Given the description of an element on the screen output the (x, y) to click on. 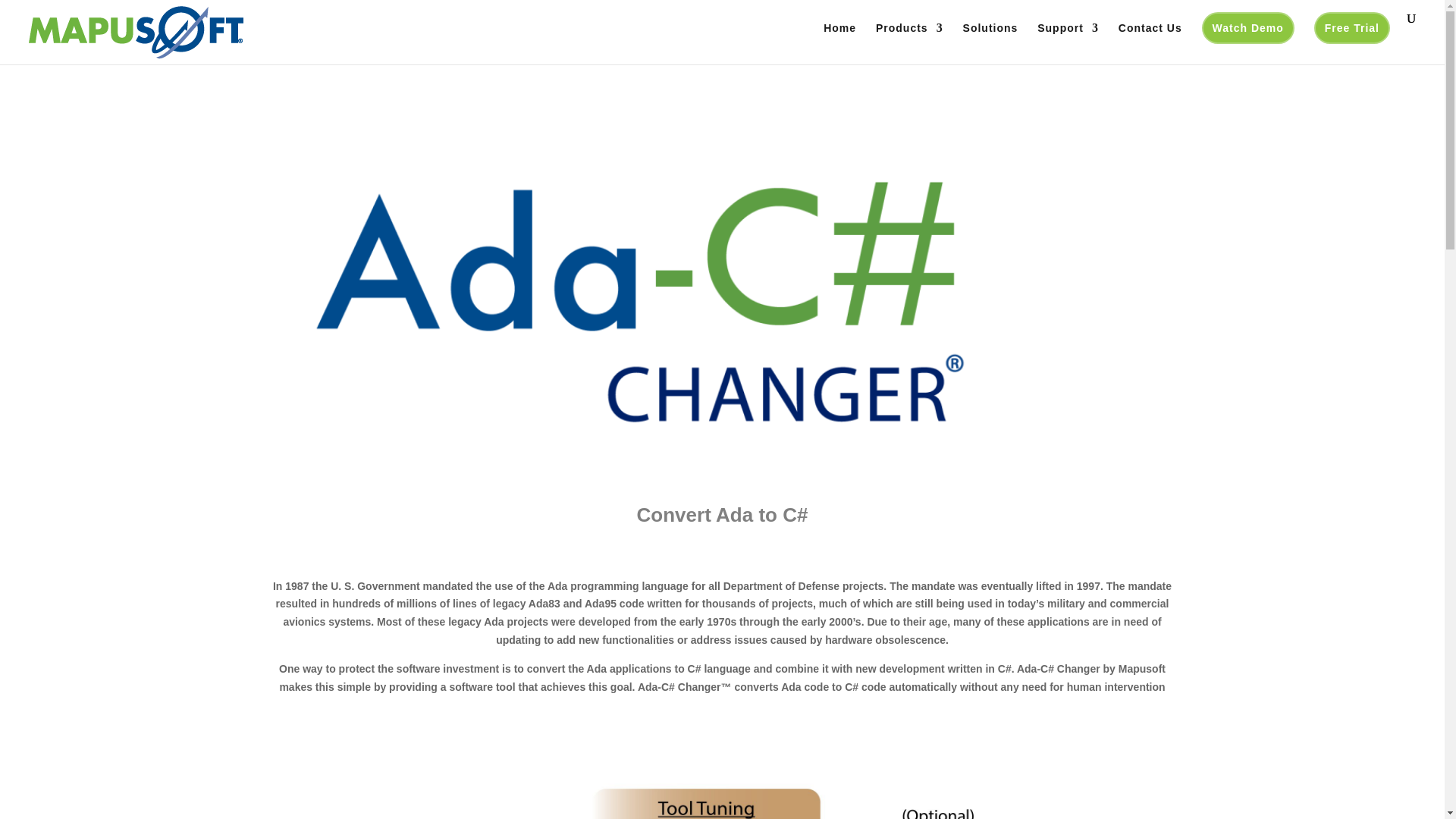
Products (909, 43)
Support (1067, 43)
Free Trial (1352, 28)
Solutions (989, 43)
Contact Us (1150, 43)
Watch Demo (1248, 28)
